Given the description of an element on the screen output the (x, y) to click on. 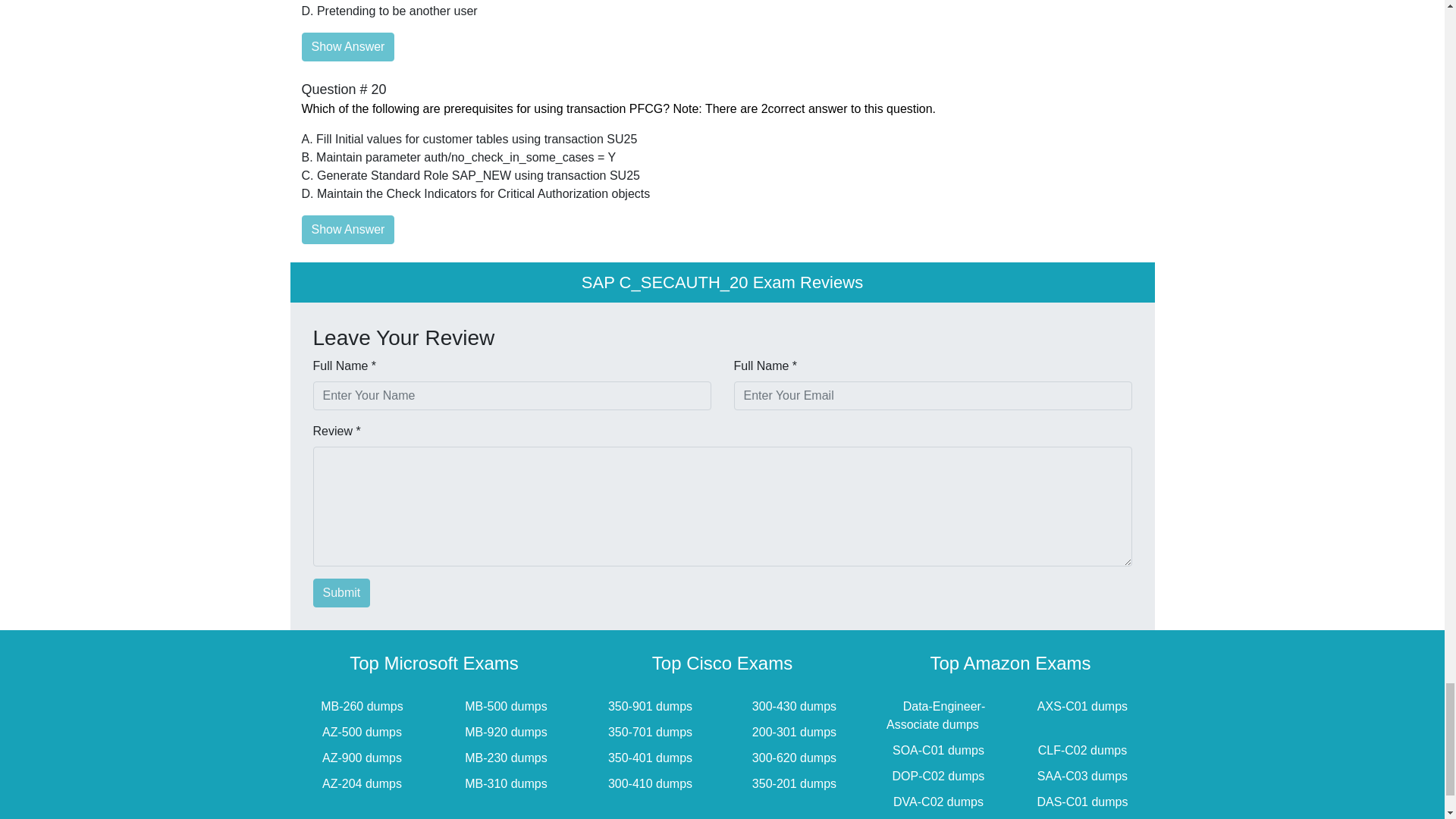
MB-260 dumps (361, 706)
Show Answer (347, 46)
Show Answer (347, 229)
Submit (341, 592)
